Given the description of an element on the screen output the (x, y) to click on. 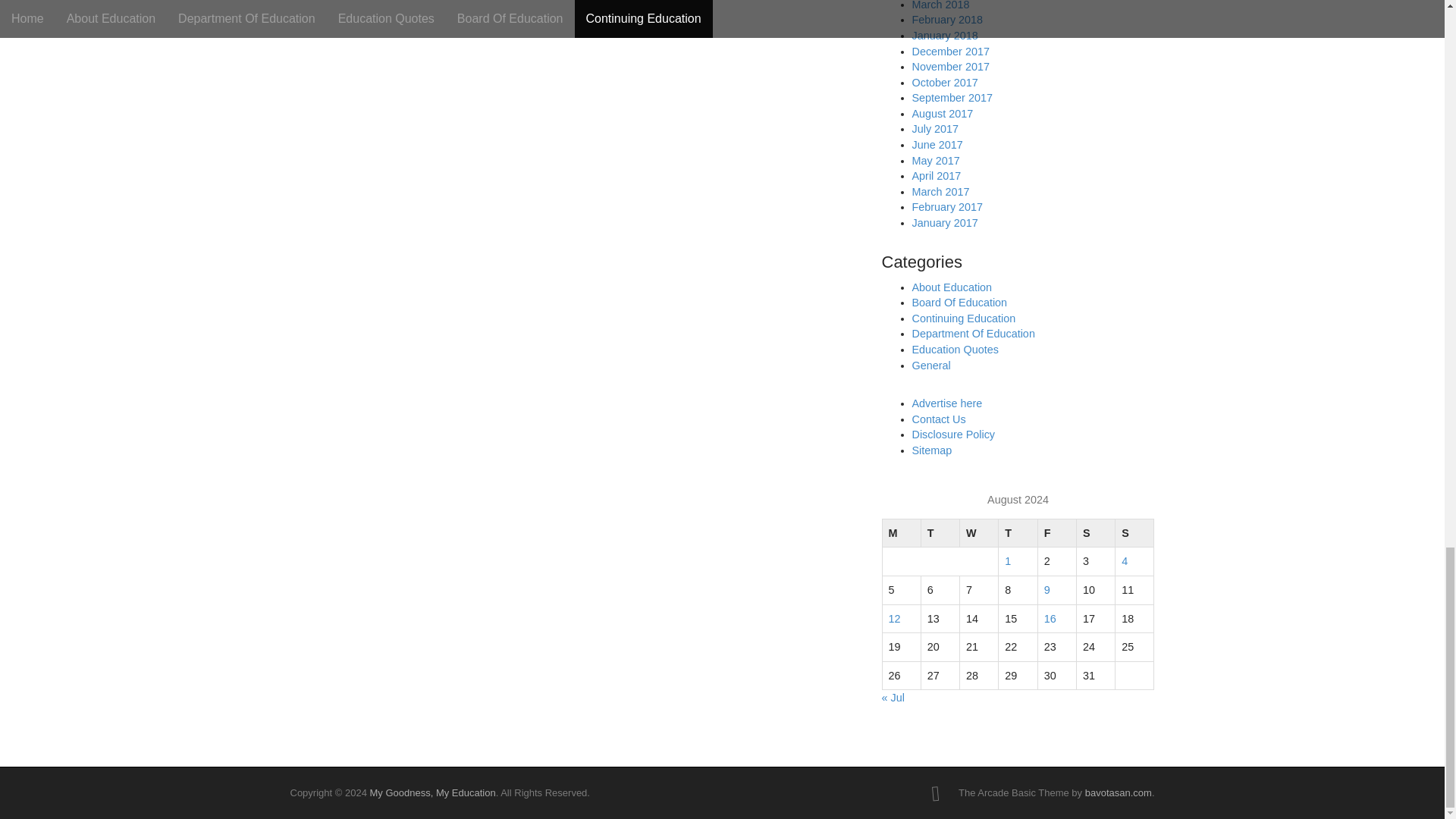
Saturday (1095, 532)
Wednesday (978, 532)
Monday (901, 532)
Tuesday (939, 532)
Friday (1055, 532)
Sunday (1134, 532)
Thursday (1017, 532)
